Given the description of an element on the screen output the (x, y) to click on. 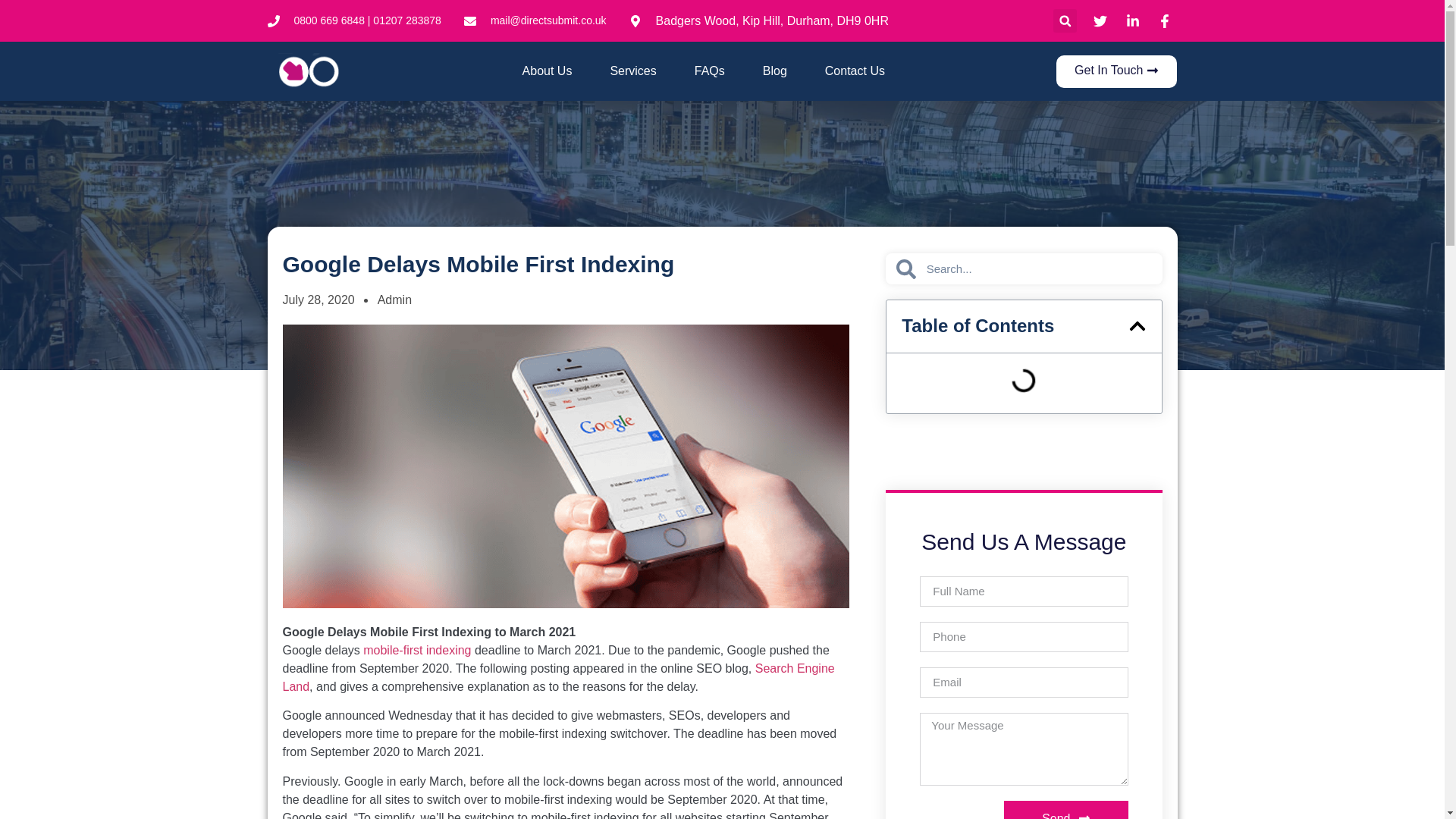
Send (1065, 809)
Services (633, 71)
FAQs (709, 71)
Admin (394, 300)
Contact Us (855, 71)
Search Engine Land (558, 676)
mobile-first indexing (416, 649)
July 28, 2020 (317, 300)
About Us (547, 71)
Blog (774, 71)
Get In Touch (1116, 70)
